Given the description of an element on the screen output the (x, y) to click on. 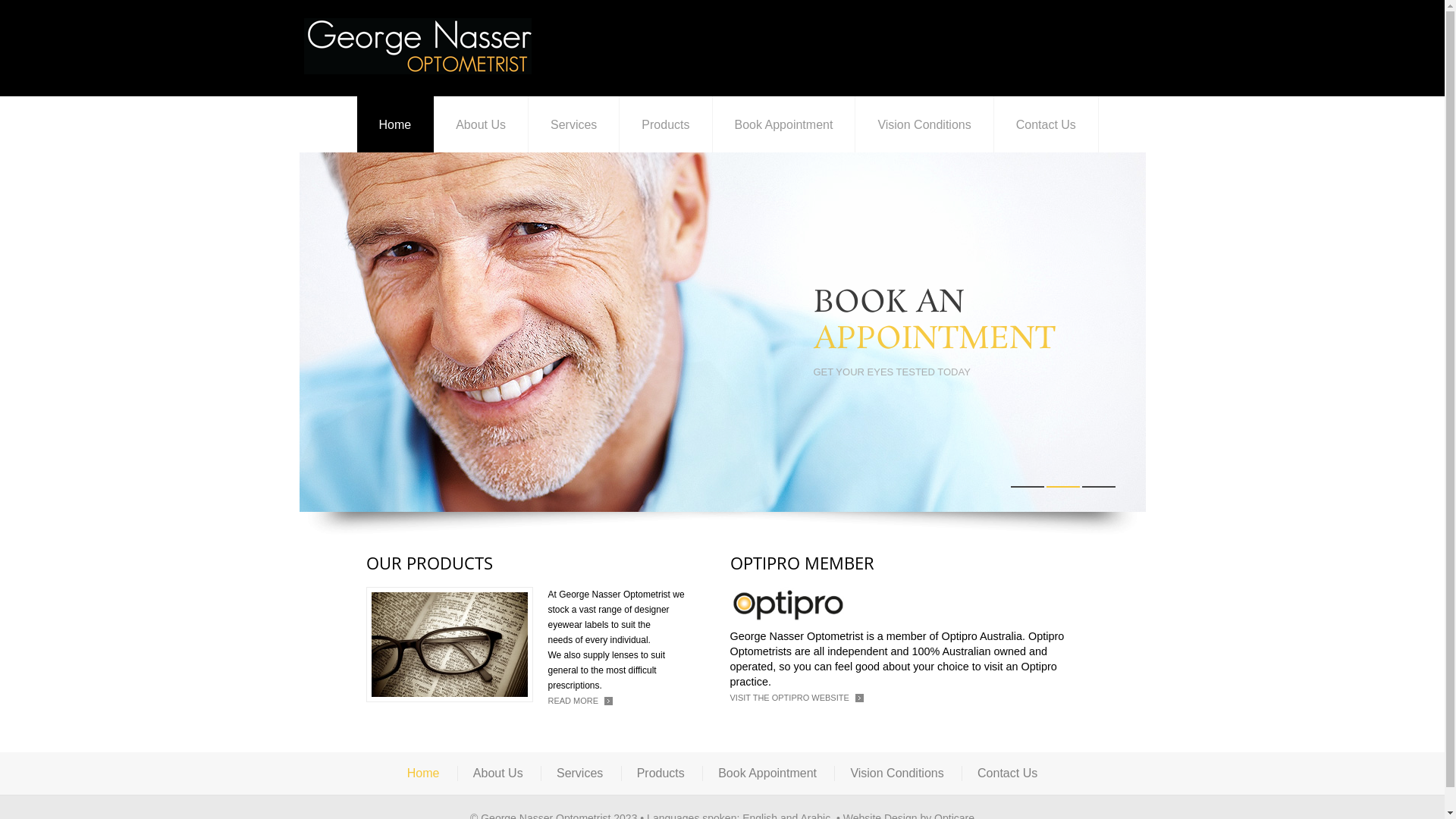
About Us Element type: text (498, 772)
Services Element type: text (579, 772)
Book Appointment Element type: text (767, 772)
READ MORE Element type: text (579, 700)
Contact Us Element type: text (1046, 124)
Services Element type: text (573, 124)
Home Element type: text (423, 772)
2 Element type: text (1062, 486)
img5 Element type: hover (786, 603)
1 Element type: text (1026, 486)
Products Element type: text (665, 124)
About Us Element type: text (480, 124)
Book Appointment Element type: text (784, 124)
Vision Conditions Element type: text (896, 772)
Home Element type: text (394, 124)
Vision Conditions Element type: text (924, 124)
3 Element type: text (1097, 486)
VISIT THE OPTIPRO WEBSITE Element type: text (795, 697)
img6 Element type: hover (449, 644)
Products Element type: text (660, 772)
Contact Us Element type: text (1007, 772)
